Given the description of an element on the screen output the (x, y) to click on. 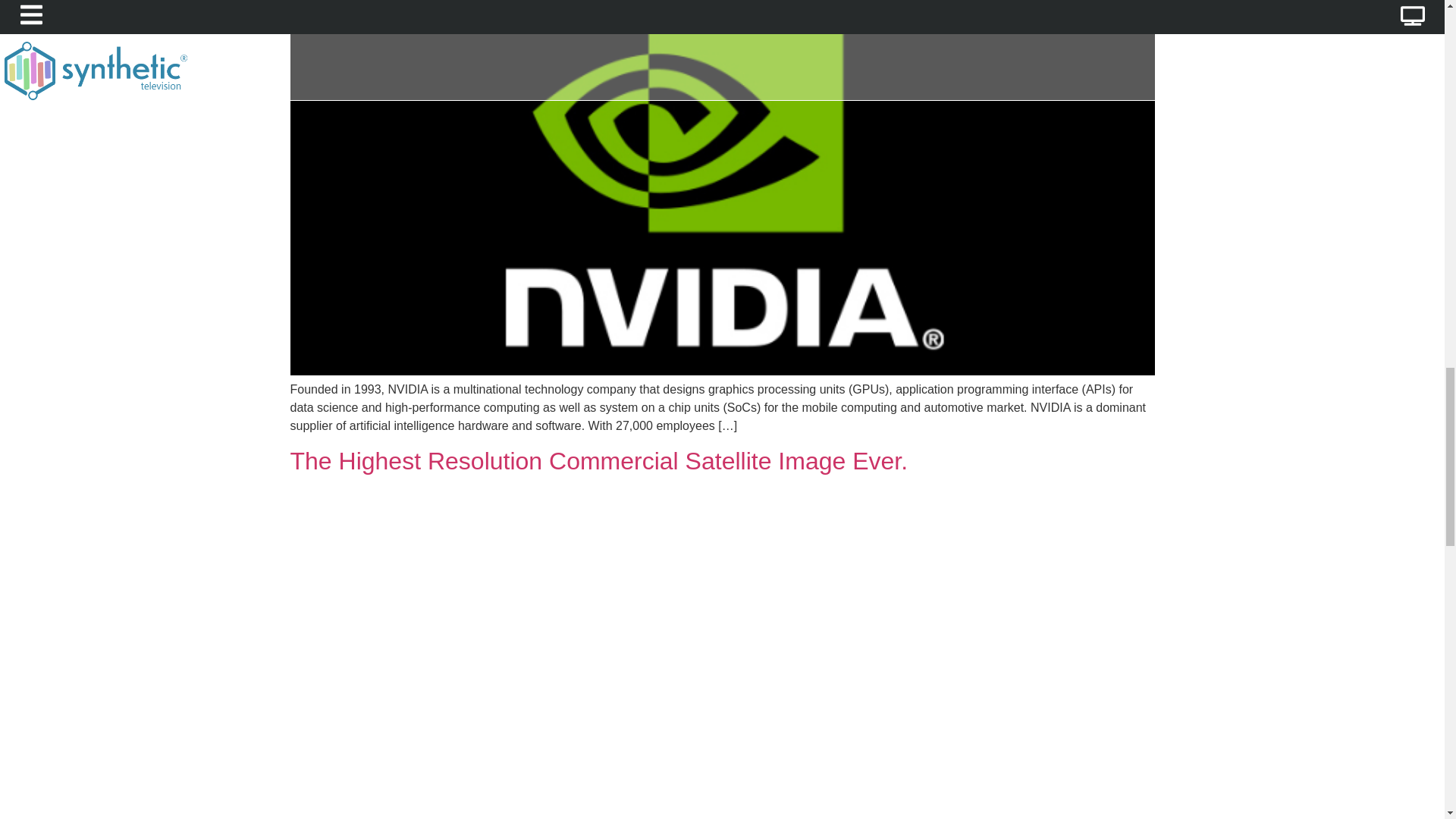
The Highest Resolution Commercial Satellite Image Ever. (598, 461)
